Given the description of an element on the screen output the (x, y) to click on. 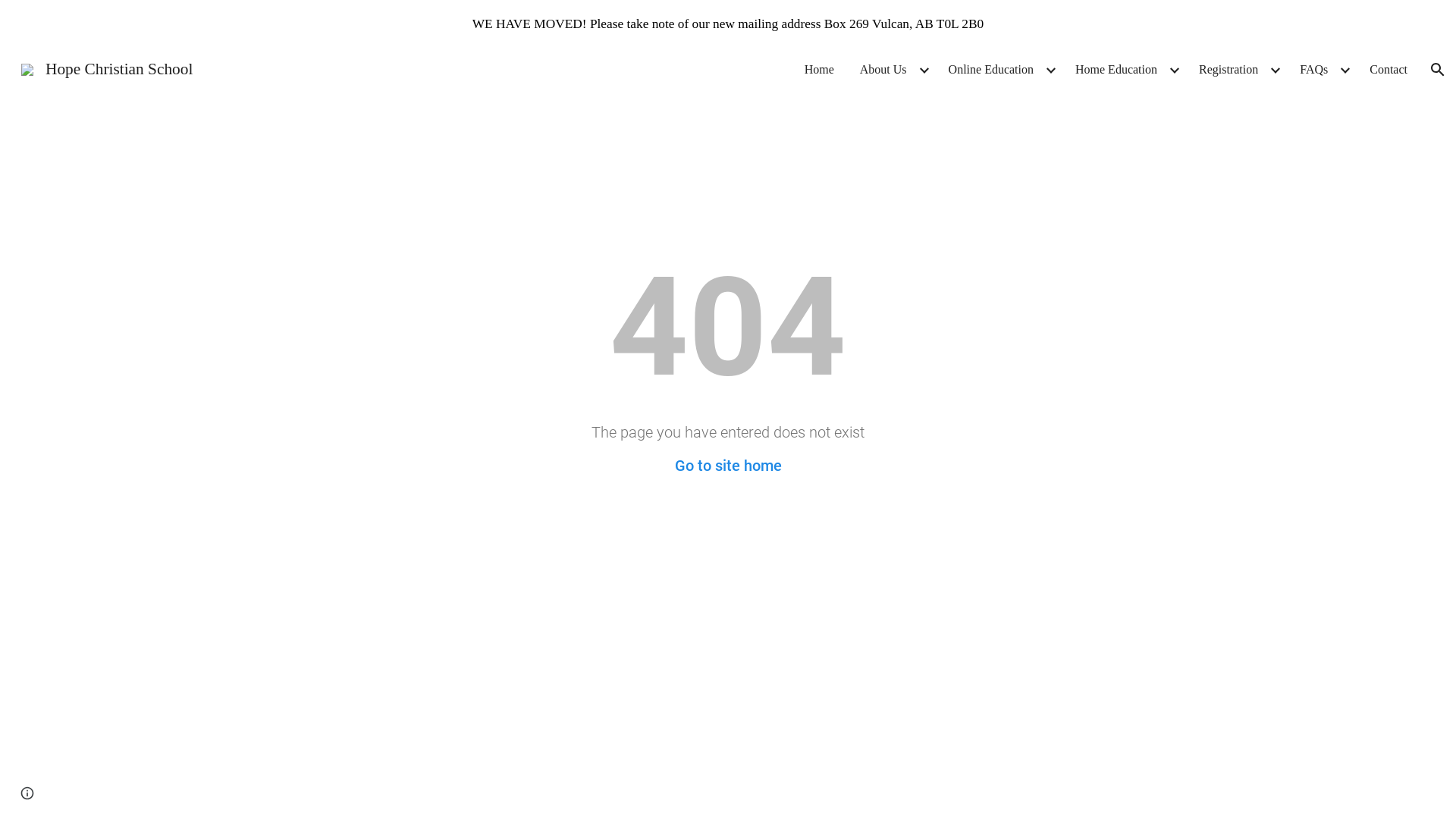
Registration Element type: text (1228, 69)
Hope Christian School Element type: text (106, 68)
Expand/Collapse Element type: hover (923, 69)
Contact Element type: text (1388, 69)
FAQs Element type: text (1313, 69)
Expand/Collapse Element type: hover (1274, 69)
Go to site home Element type: text (727, 465)
Online Education Element type: text (991, 69)
About Us Element type: text (883, 69)
Expand/Collapse Element type: hover (1050, 69)
Expand/Collapse Element type: hover (1344, 69)
Home Education Element type: text (1115, 69)
Home Element type: text (819, 69)
Expand/Collapse Element type: hover (1173, 69)
